Given the description of an element on the screen output the (x, y) to click on. 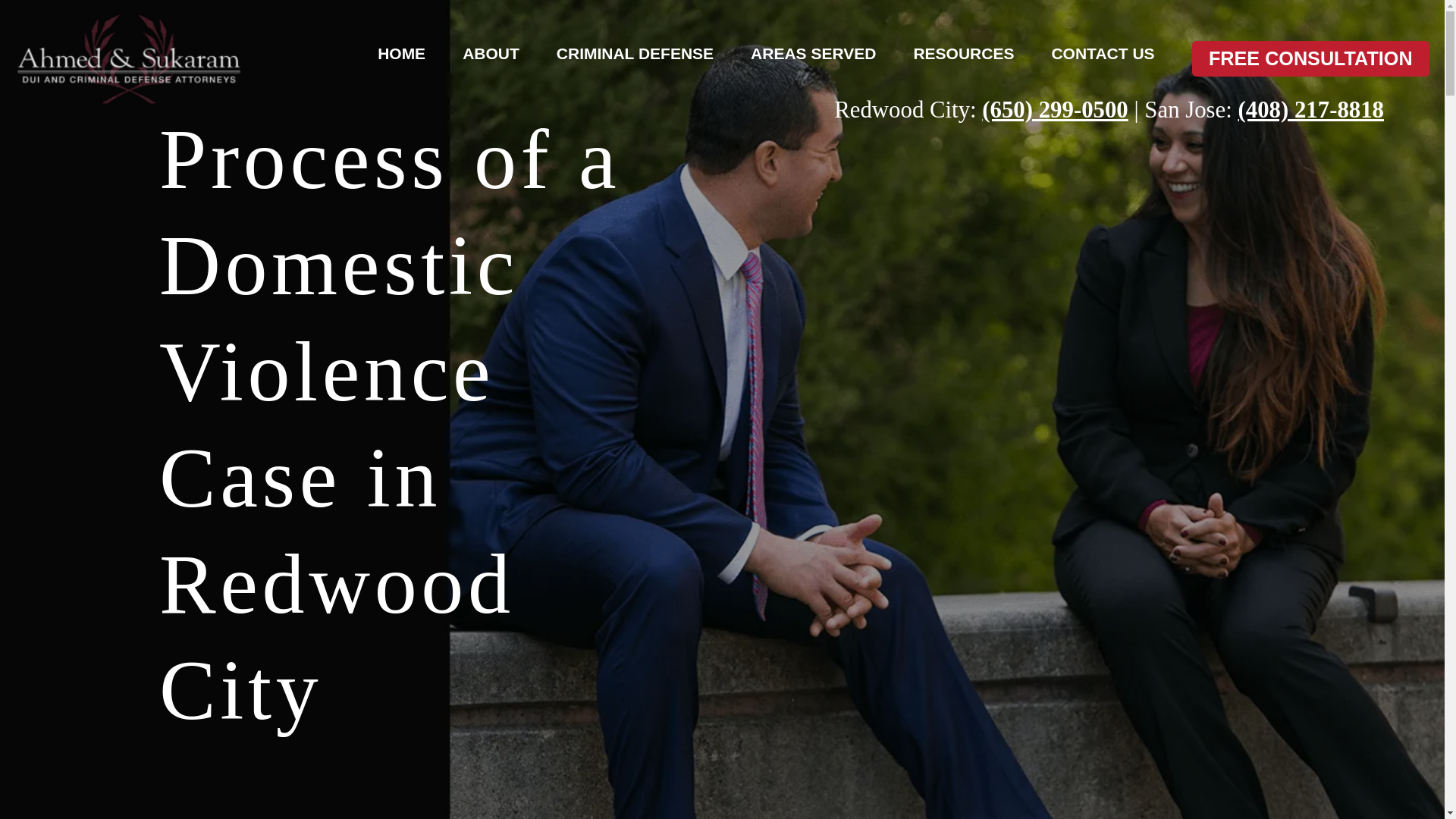
ABOUT (491, 53)
CONTACT US (1102, 53)
AREAS SERVED (813, 53)
CRIMINAL DEFENSE (634, 53)
RESOURCES (962, 53)
FREE CONSULTATION (1310, 58)
HOME (401, 53)
FREE CONSULTATION (1310, 58)
